Given the description of an element on the screen output the (x, y) to click on. 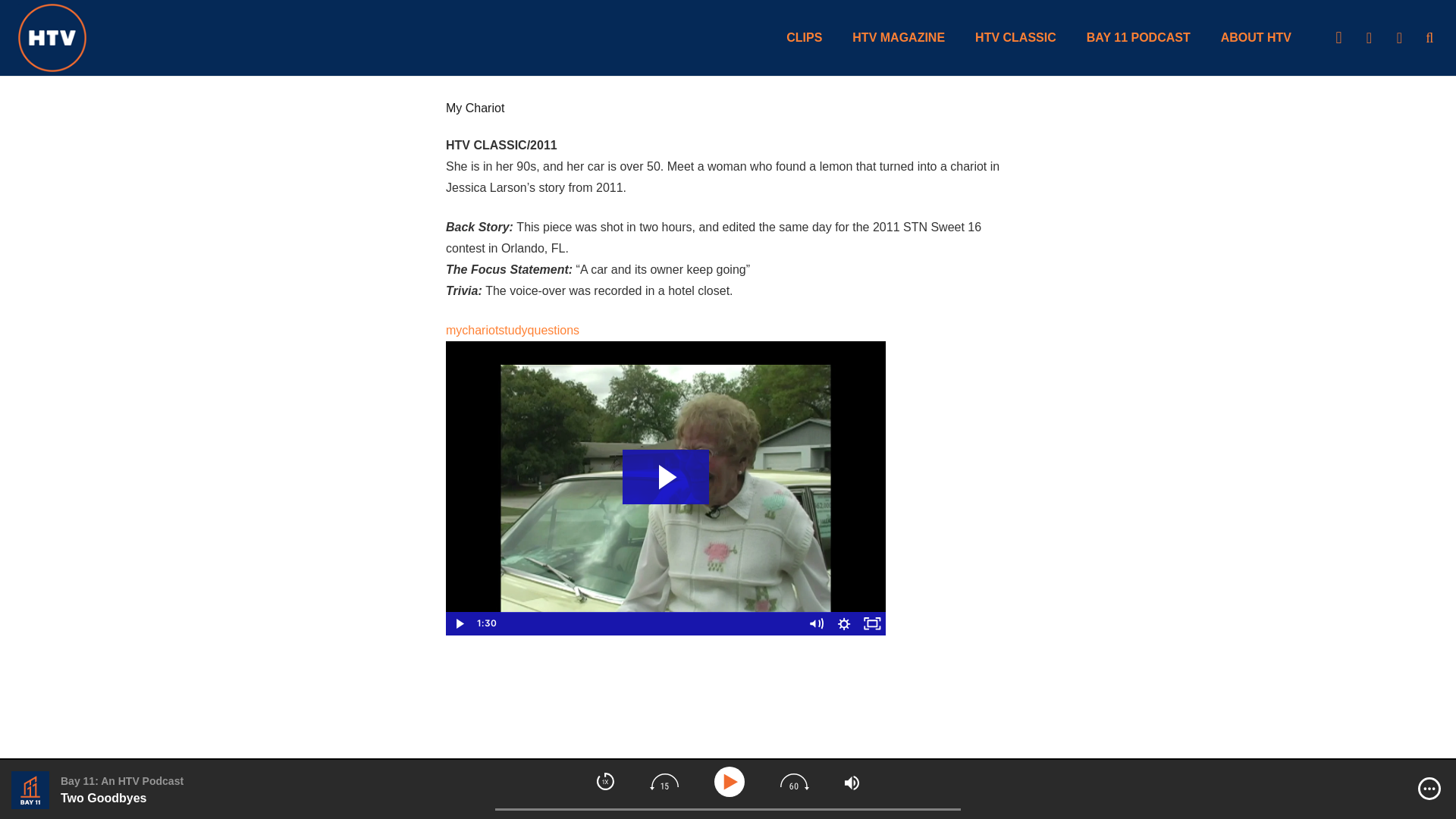
mychariotstudyquestions (512, 329)
Instagram (1338, 37)
ABOUT HTV (1255, 38)
More (1429, 788)
Speed: Normal (605, 781)
Back 15 seconds (663, 781)
BAY 11 PODCAST (1138, 38)
Forward 60 seconds (794, 781)
Show settings menu (843, 623)
Twitter (1369, 37)
Facebook (1398, 37)
HTV MAGAZINE (898, 38)
HTV CLASSIC (1015, 38)
